Given the description of an element on the screen output the (x, y) to click on. 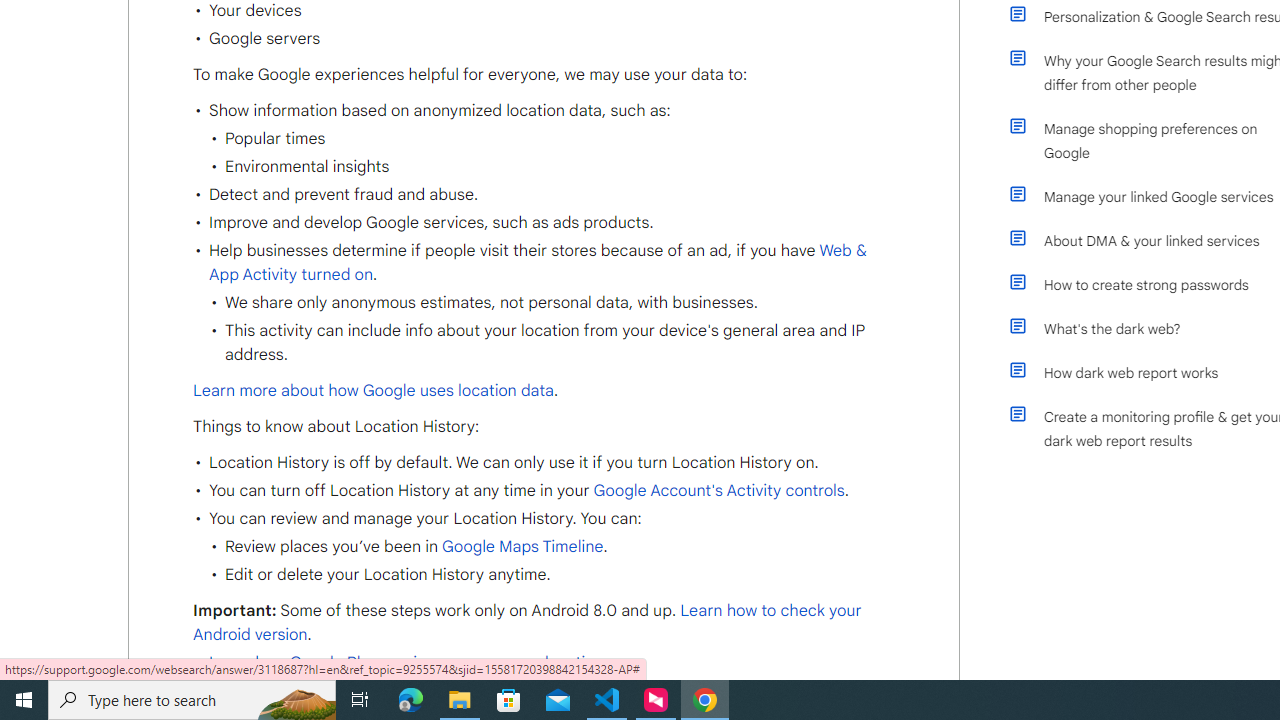
Learn how Google Play services can use your location (406, 663)
Web & App Activity turned on (537, 263)
Learn how to check your Android version (527, 623)
Google Maps Timeline (522, 547)
 Google Account's Activity controls (716, 490)
Learn more about how Google uses location data (373, 390)
